Given the description of an element on the screen output the (x, y) to click on. 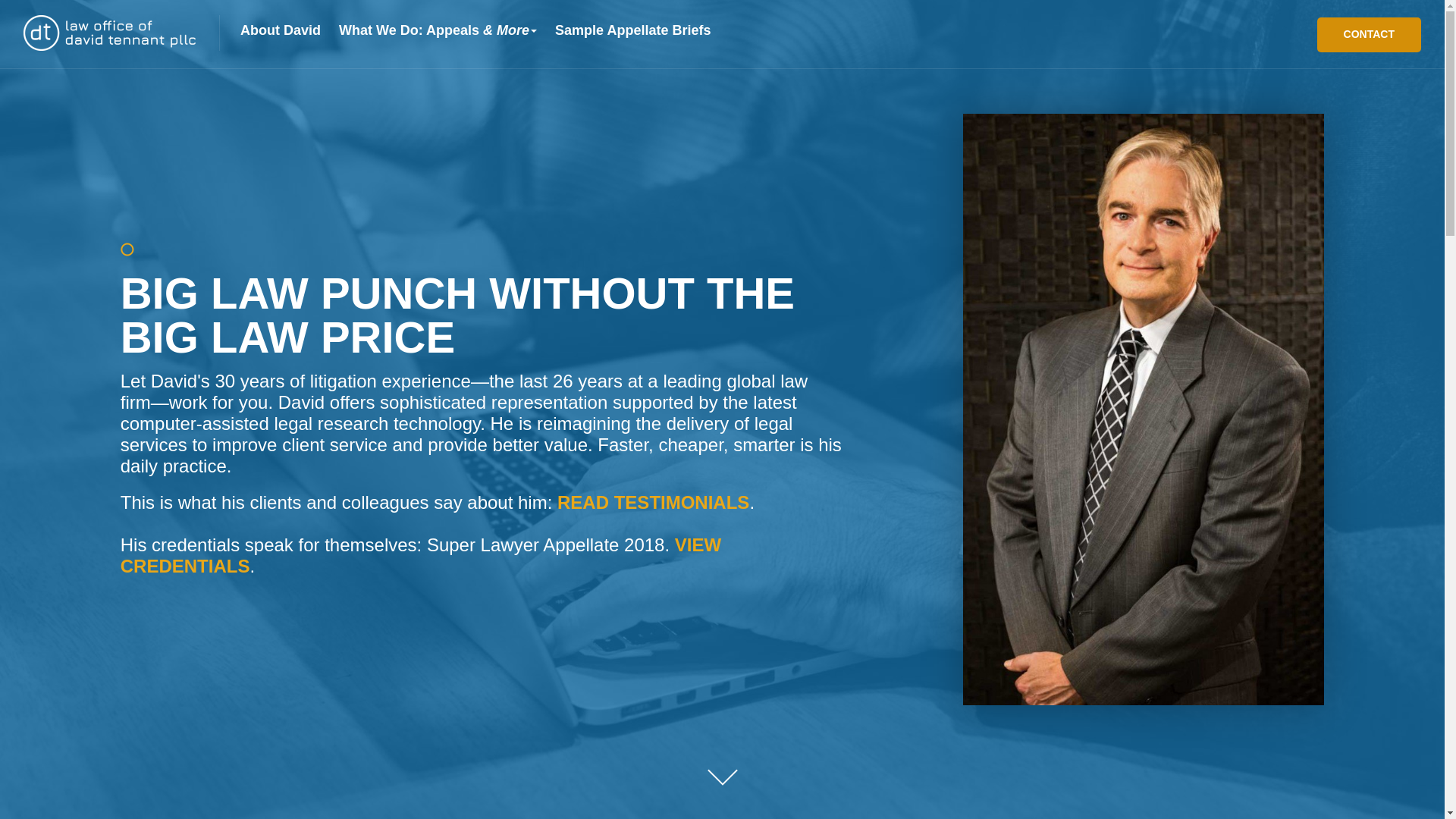
Scroll to Content (718, 765)
Law Office of David Tennant PLLC (109, 31)
CONTACT (1369, 34)
About David (280, 30)
Sample Appellate Briefs (632, 30)
VIEW CREDENTIALS (420, 554)
READ TESTIMONIALS (653, 501)
